Given the description of an element on the screen output the (x, y) to click on. 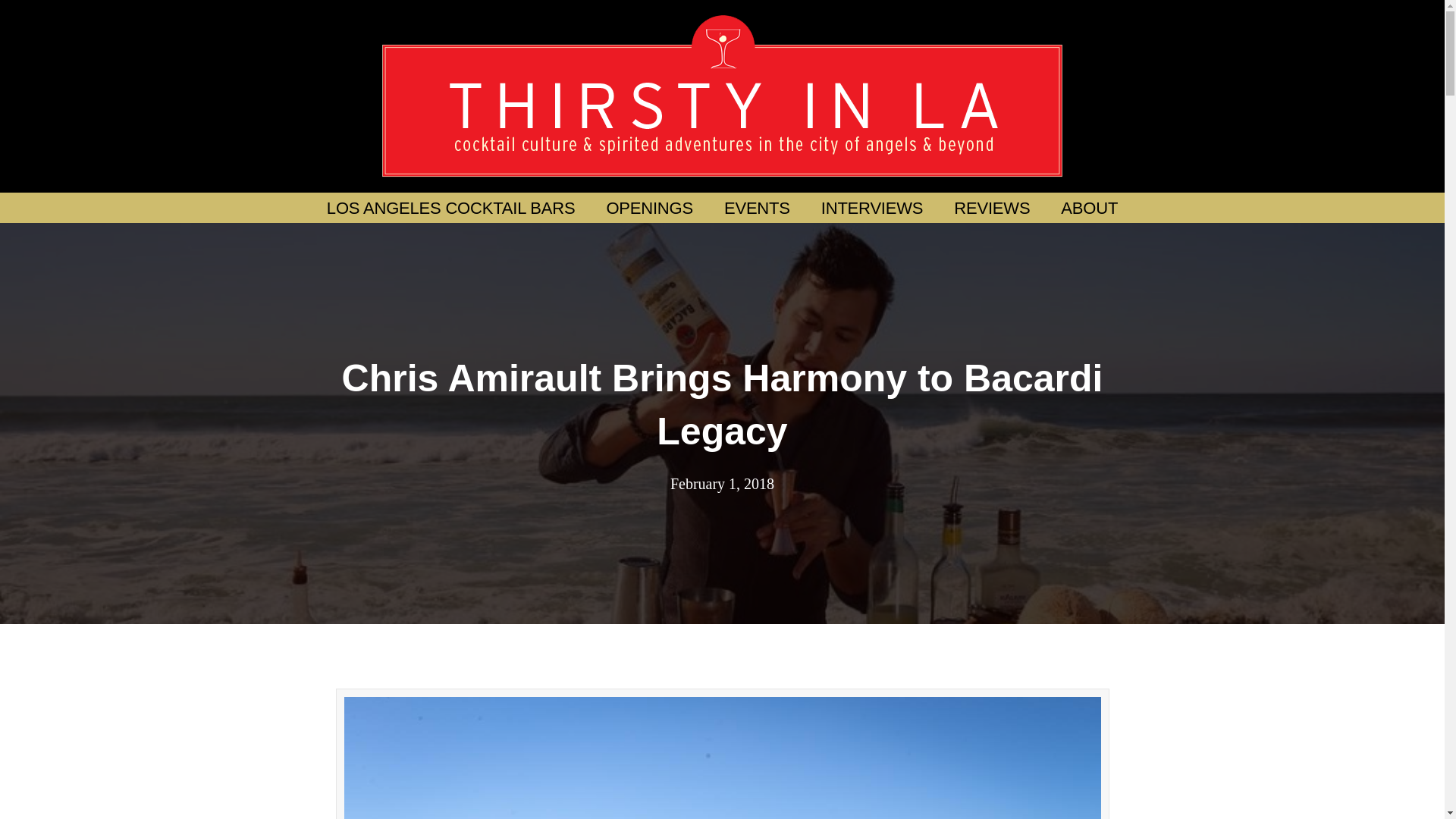
OPENINGS (649, 208)
EVENTS (757, 208)
thirstyheader (721, 96)
INTERVIEWS (872, 208)
REVIEWS (992, 208)
ABOUT (1088, 208)
LOS ANGELES COCKTAIL BARS (451, 208)
